Given the description of an element on the screen output the (x, y) to click on. 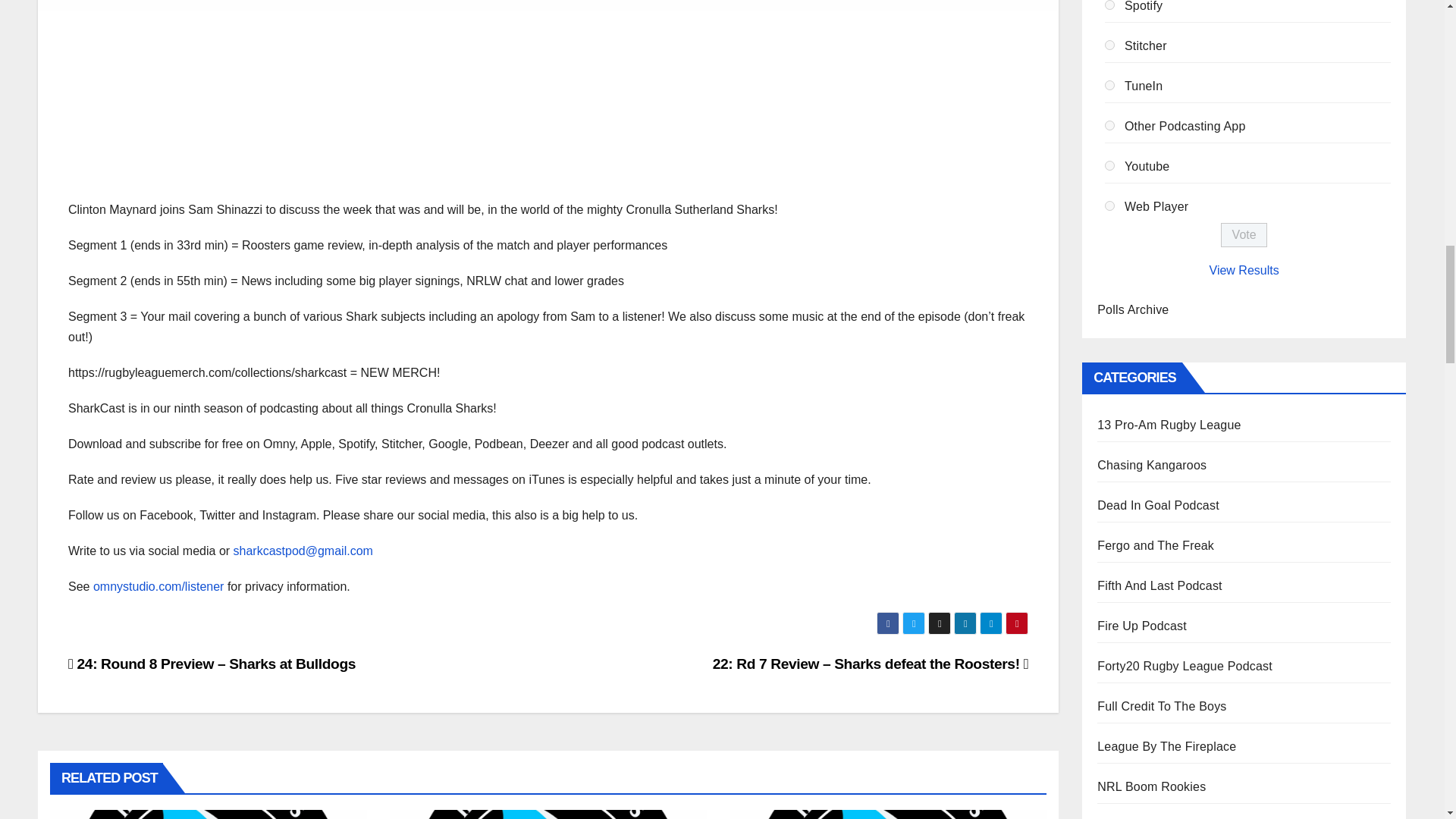
10 (1110, 125)
11 (1110, 165)
   Vote    (1243, 234)
View Results Of This Poll (1244, 269)
8 (1110, 44)
12 (1110, 205)
9 (1110, 85)
7 (1110, 4)
